Given the description of an element on the screen output the (x, y) to click on. 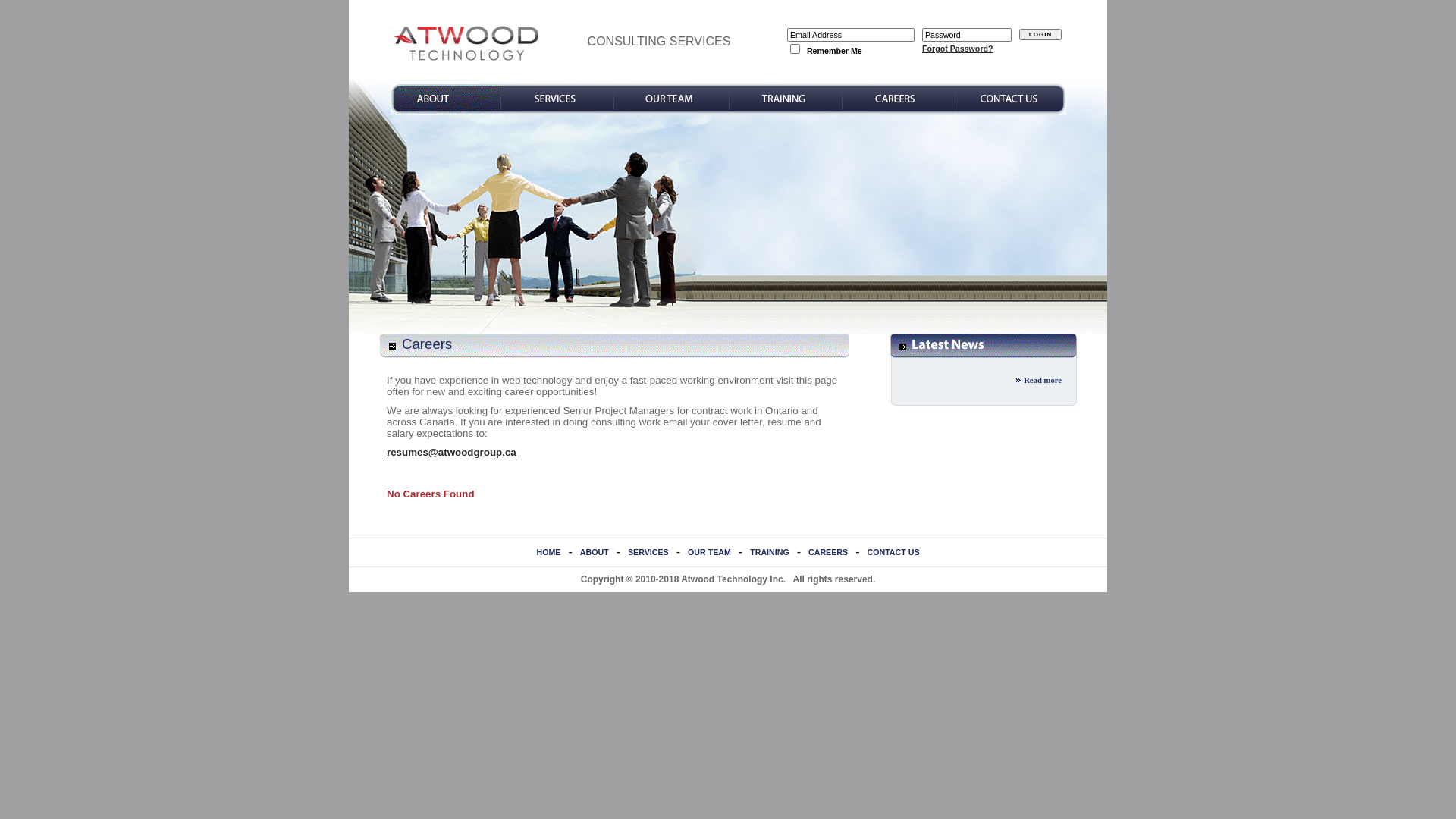
OUR TEAM Element type: text (709, 551)
ABOUT Element type: text (594, 551)
CONTACT US Element type: text (892, 551)
TRAINING Element type: text (769, 551)
HOME Element type: text (547, 551)
LOGIN Element type: text (1040, 34)
HOME Element type: hover (466, 72)
Forgot Password? Element type: text (957, 48)
Email Address Element type: text (850, 33)
CAREERS Element type: text (827, 551)
SERVICES Element type: text (648, 551)
Read more Element type: text (1042, 380)
resumes@atwoodgroup.ca Element type: text (451, 452)
